Given the description of an element on the screen output the (x, y) to click on. 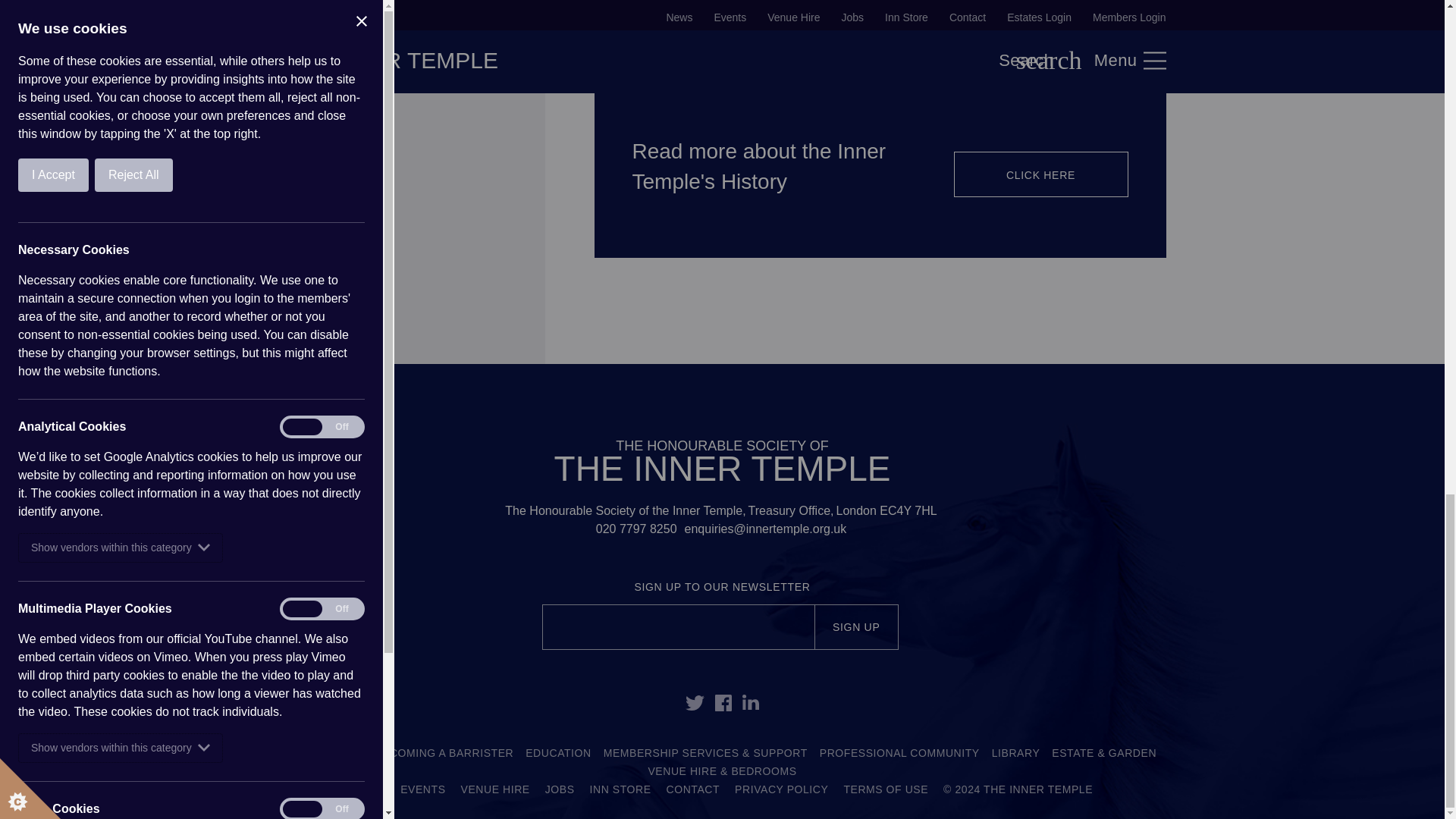
Sign up (856, 627)
